Given the description of an element on the screen output the (x, y) to click on. 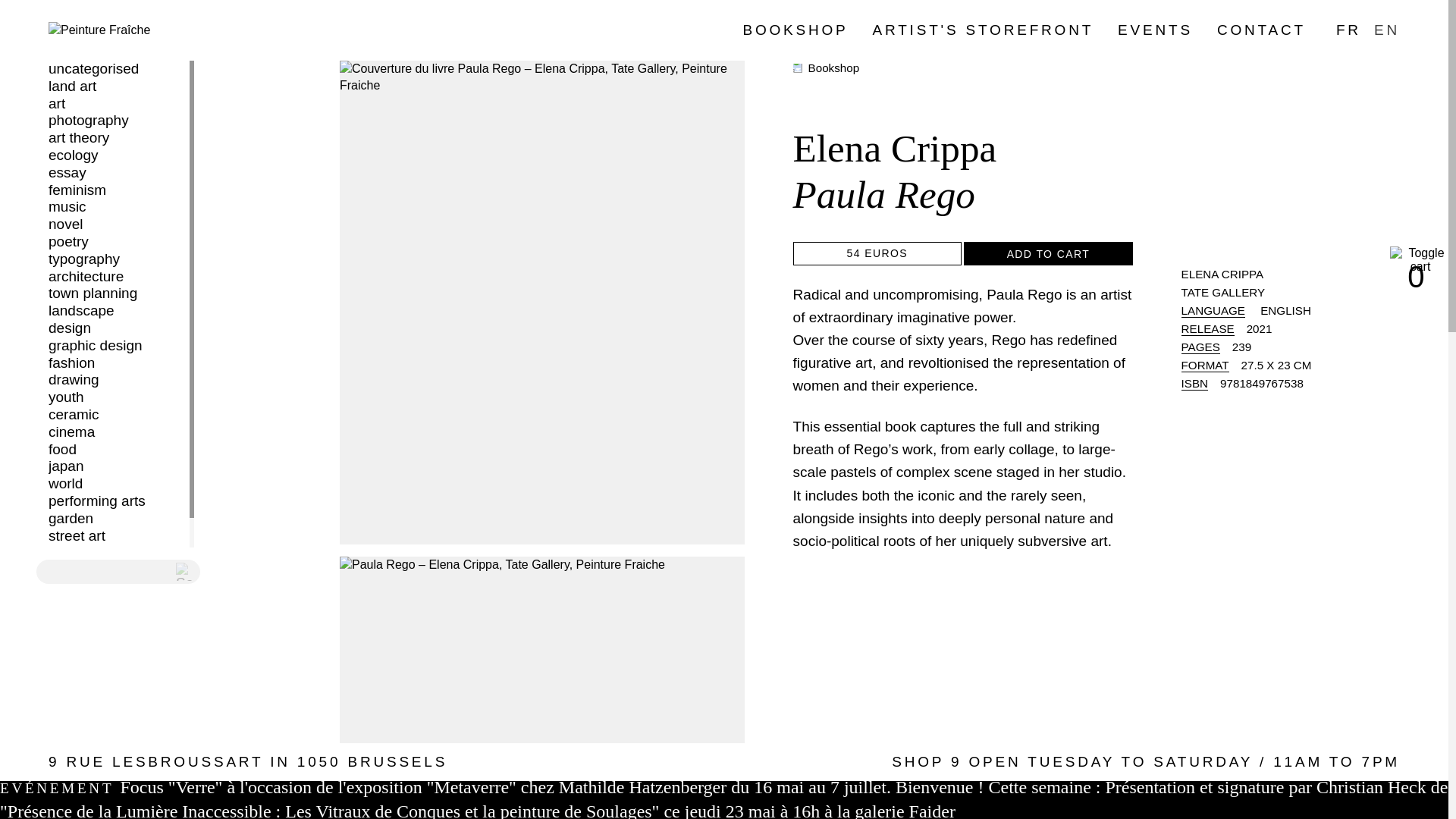
Events (1155, 29)
BOOKSHOP (794, 29)
EVENTS (1155, 29)
Bookshop (794, 29)
Contact (1261, 29)
FR (1348, 29)
CONTACT (1261, 29)
Artist's storefront (983, 29)
ARTIST'S STOREFRONT (983, 29)
EN (1386, 29)
